Given the description of an element on the screen output the (x, y) to click on. 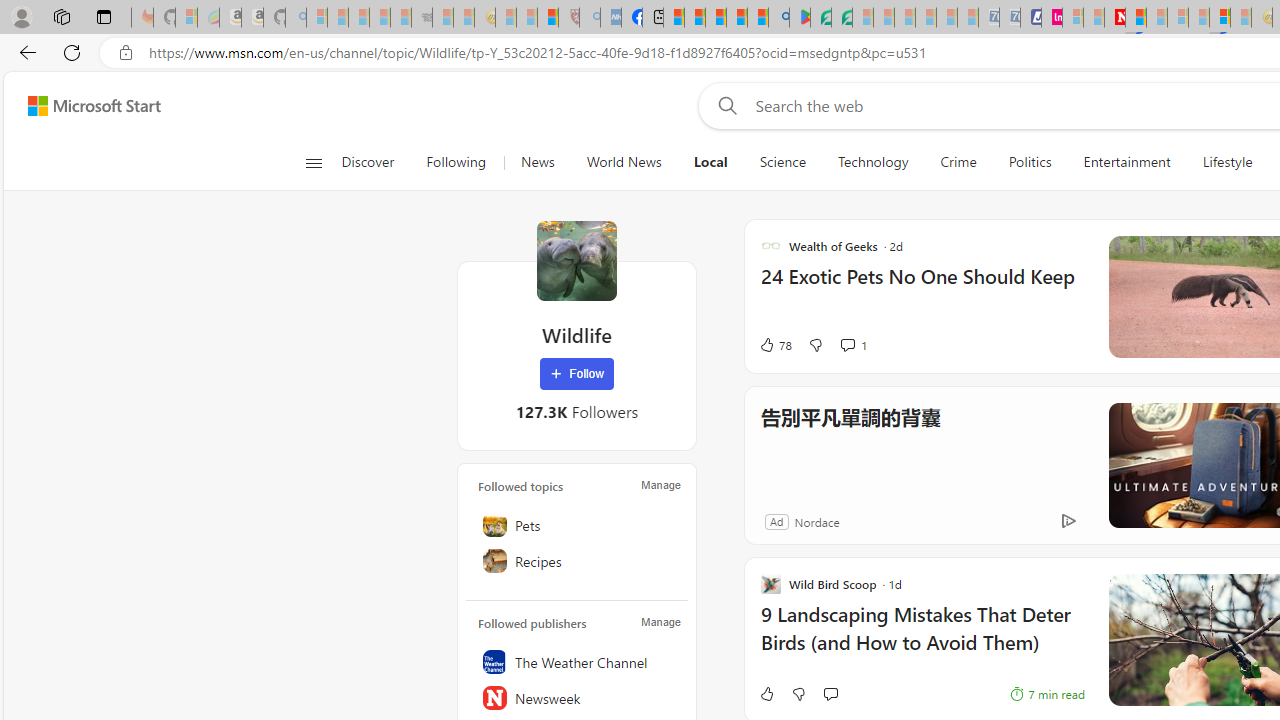
Like (766, 694)
14 Common Myths Debunked By Scientific Facts - Sleeping (1156, 17)
View comments 1 Comment (852, 344)
